Given the description of an element on the screen output the (x, y) to click on. 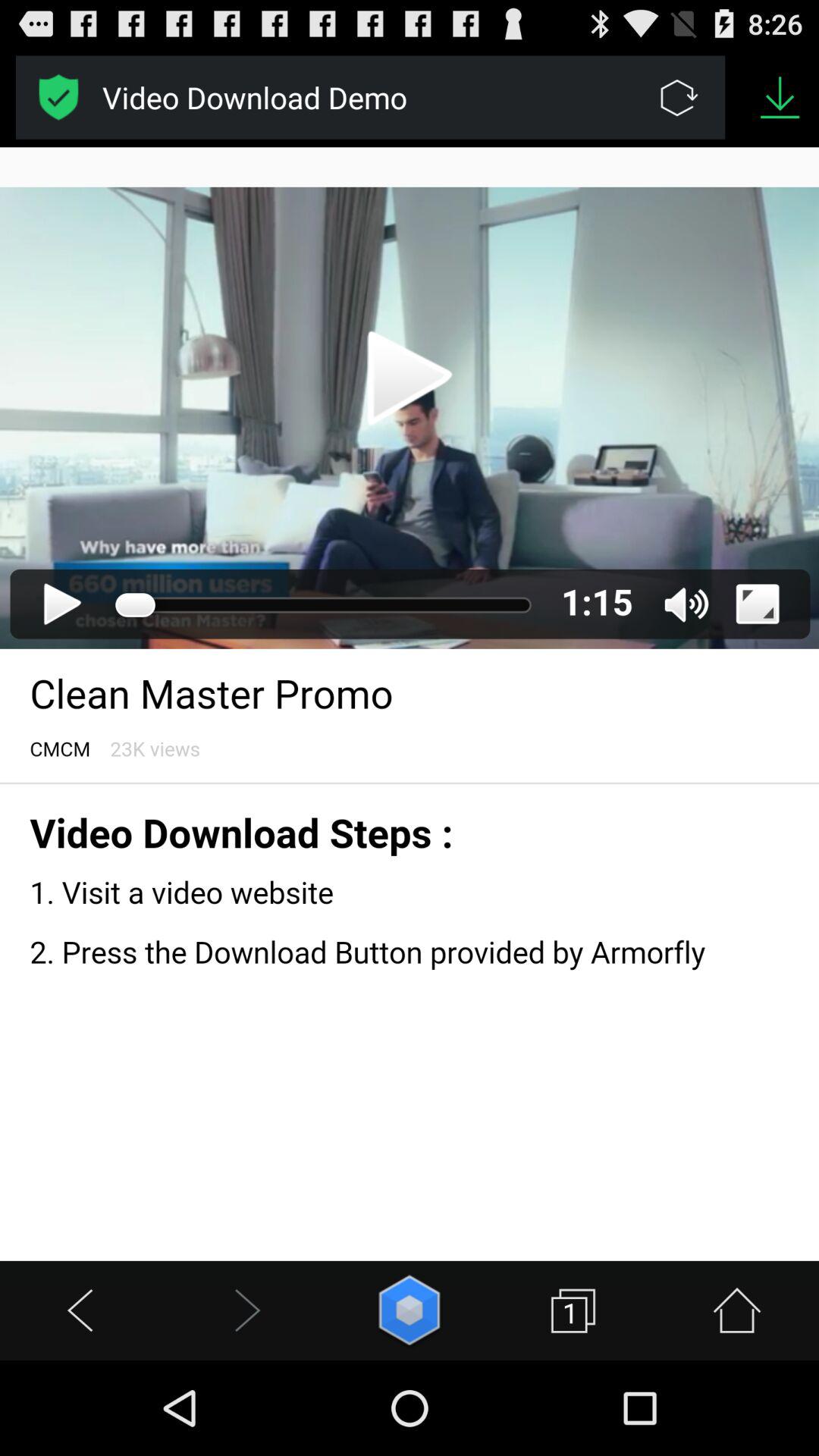
right option box (59, 97)
